Given the description of an element on the screen output the (x, y) to click on. 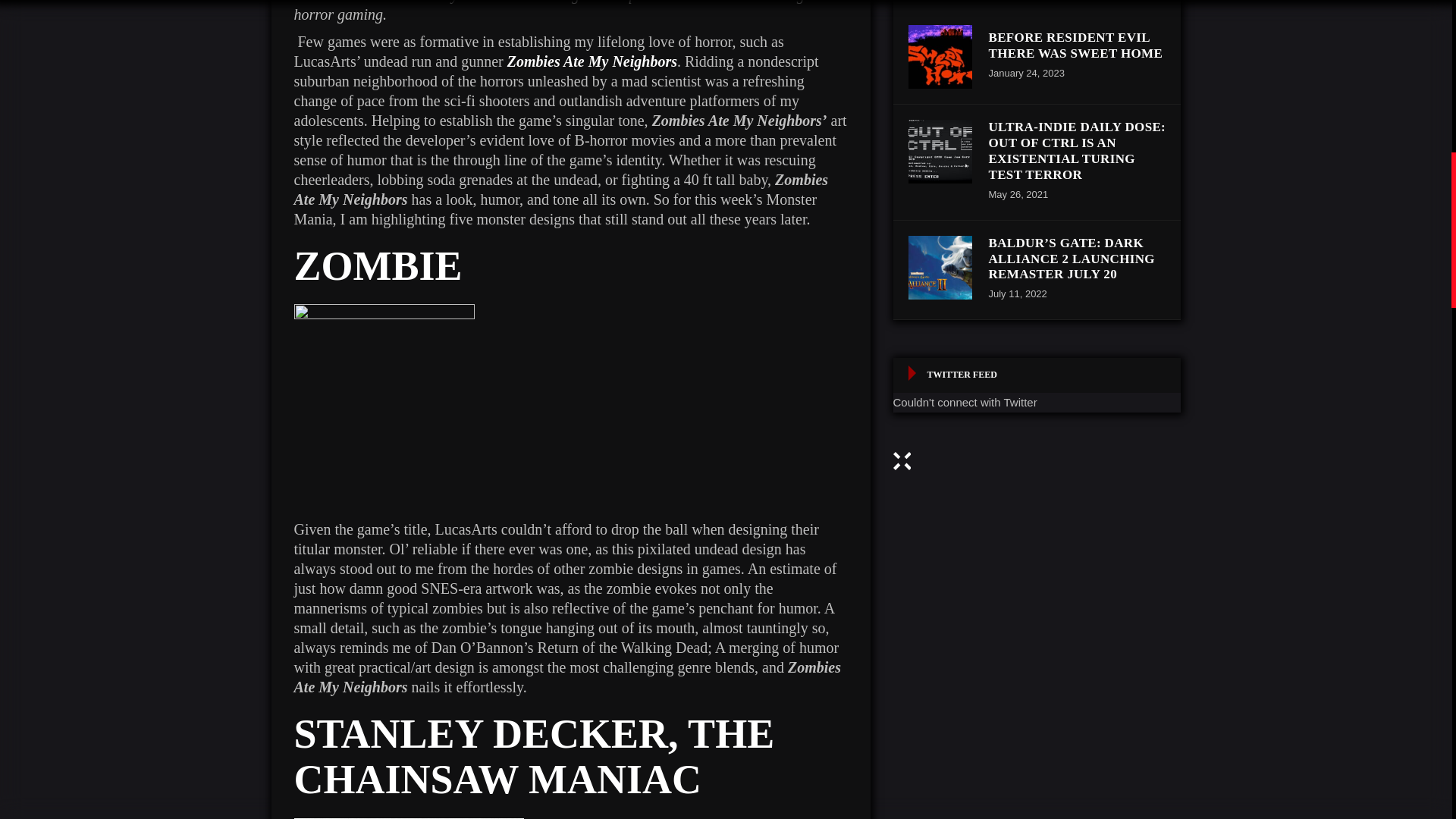
Before Resident Evil There Was Sweet Home (1075, 45)
Before Resident Evil There Was Sweet Home (940, 56)
